Given the description of an element on the screen output the (x, y) to click on. 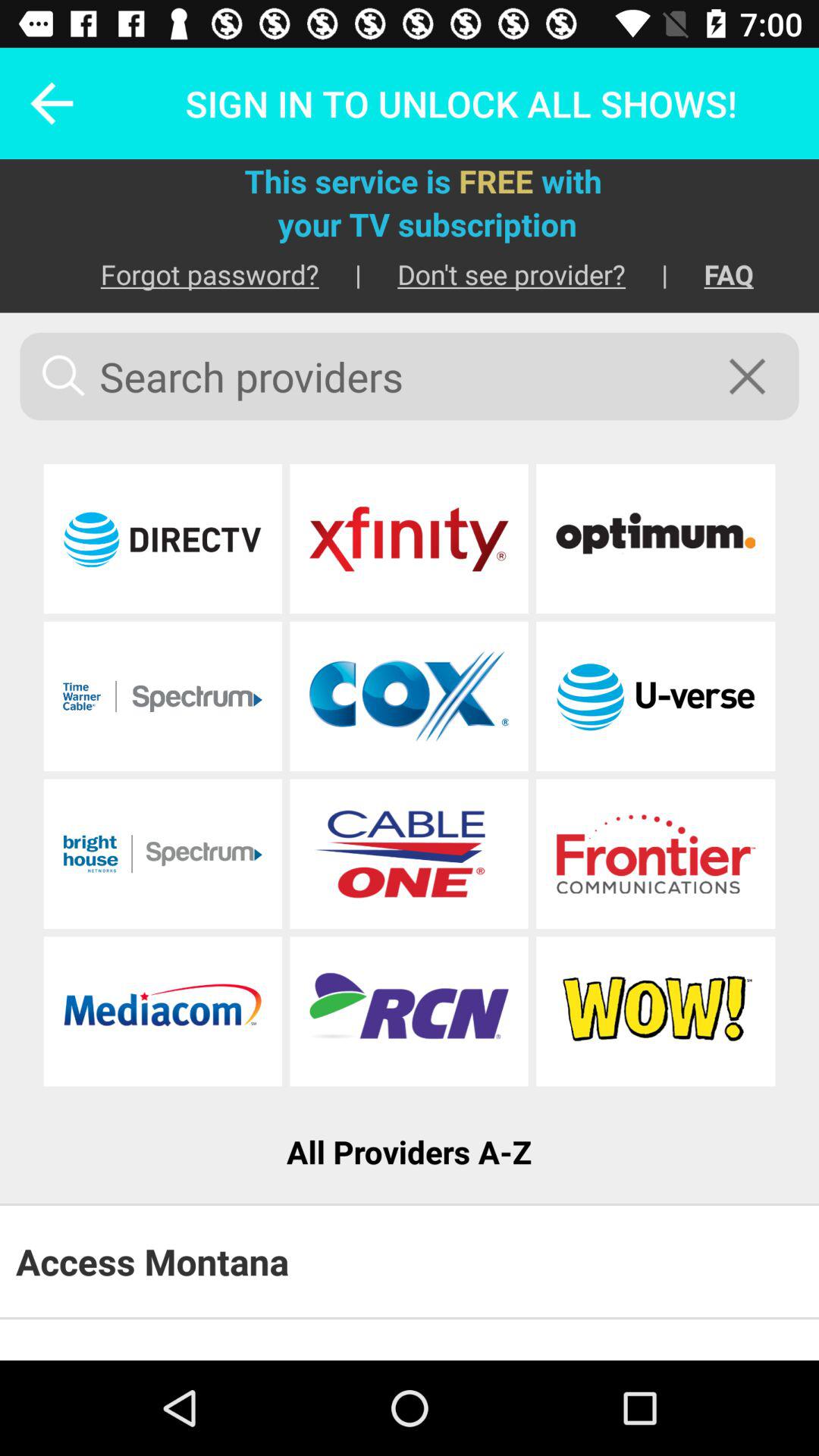
provider link (162, 538)
